Given the description of an element on the screen output the (x, y) to click on. 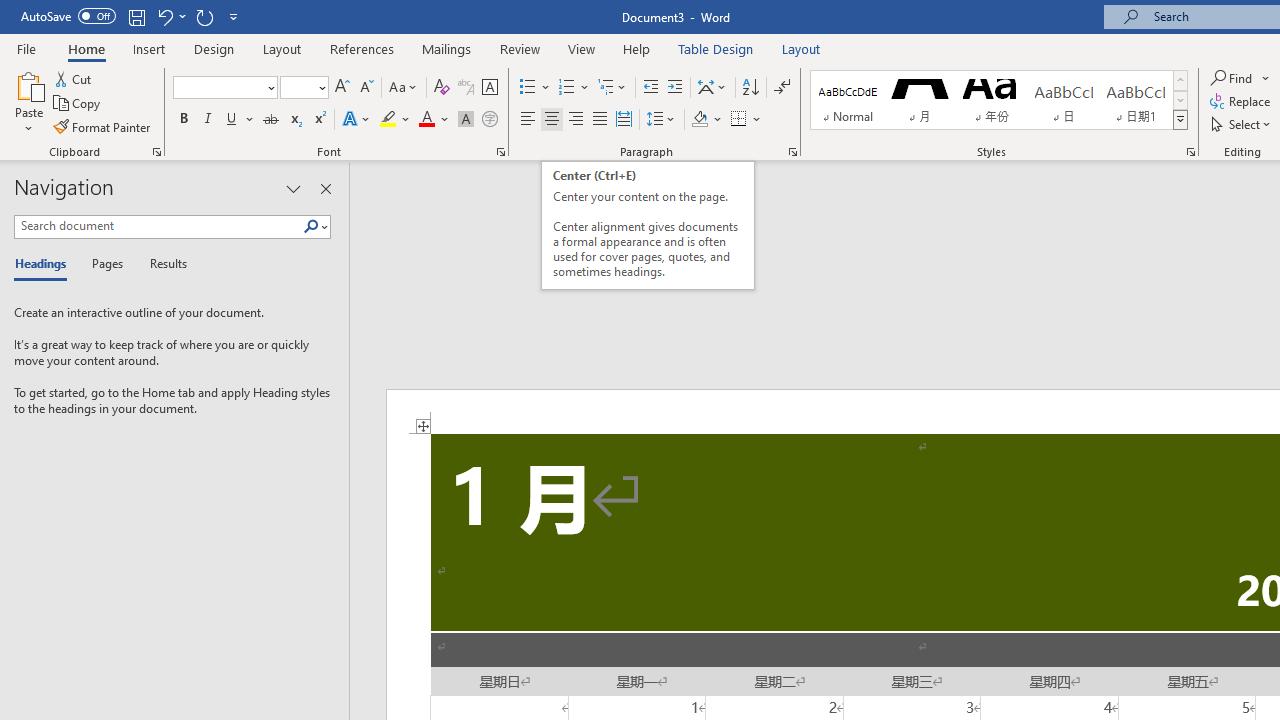
Sort... (750, 87)
Styles... (1190, 151)
Shading RGB(0, 0, 0) (699, 119)
Replace... (1242, 101)
